Given the description of an element on the screen output the (x, y) to click on. 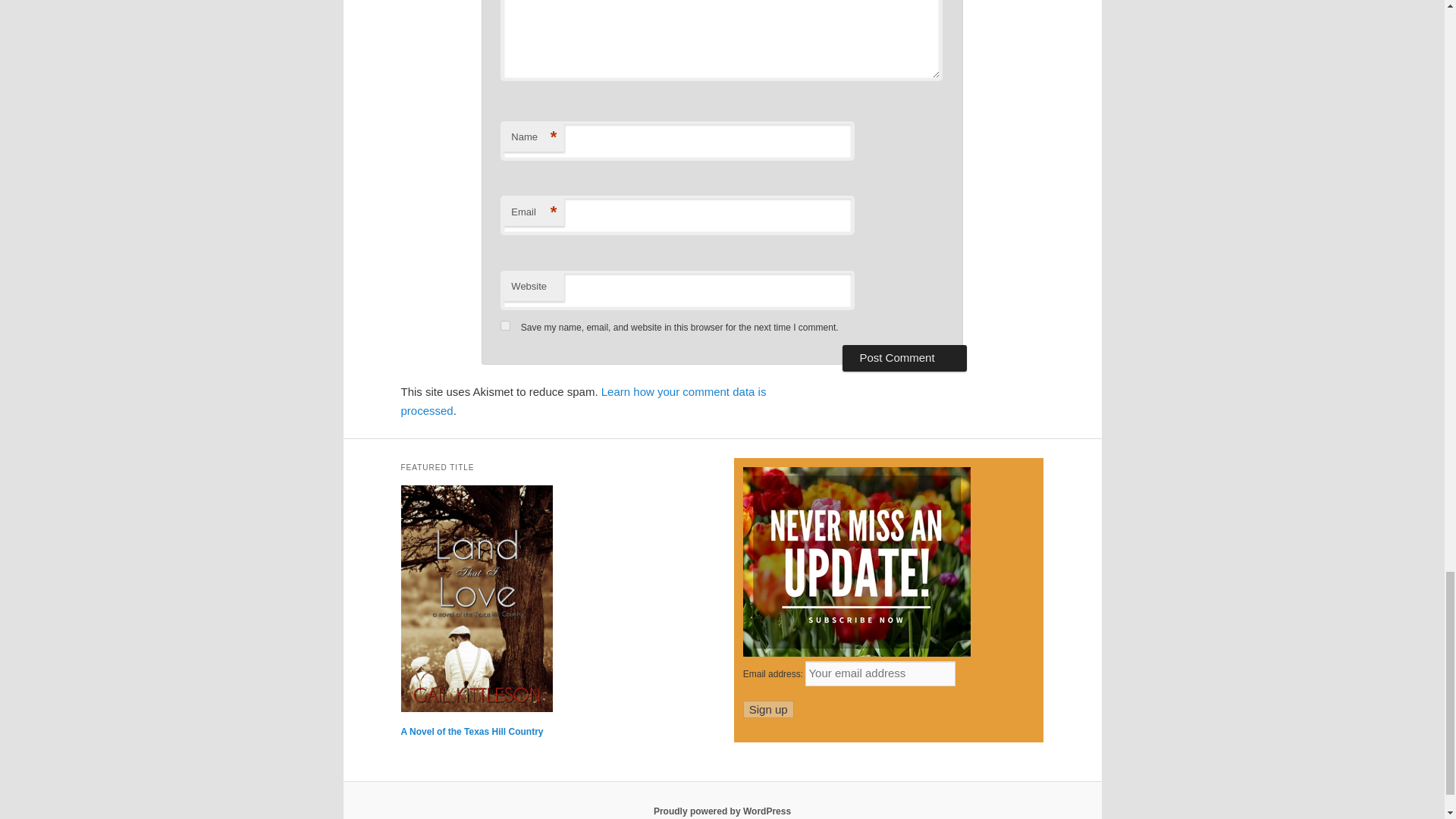
Post Comment (904, 357)
Post Comment (904, 357)
Sign up (767, 709)
Sign up (767, 709)
yes (505, 325)
Semantic Personal Publishing Platform (721, 810)
Proudly powered by WordPress (721, 810)
A Novel of the Texas Hill Country (555, 732)
Learn how your comment data is processed (582, 400)
